Given the description of an element on the screen output the (x, y) to click on. 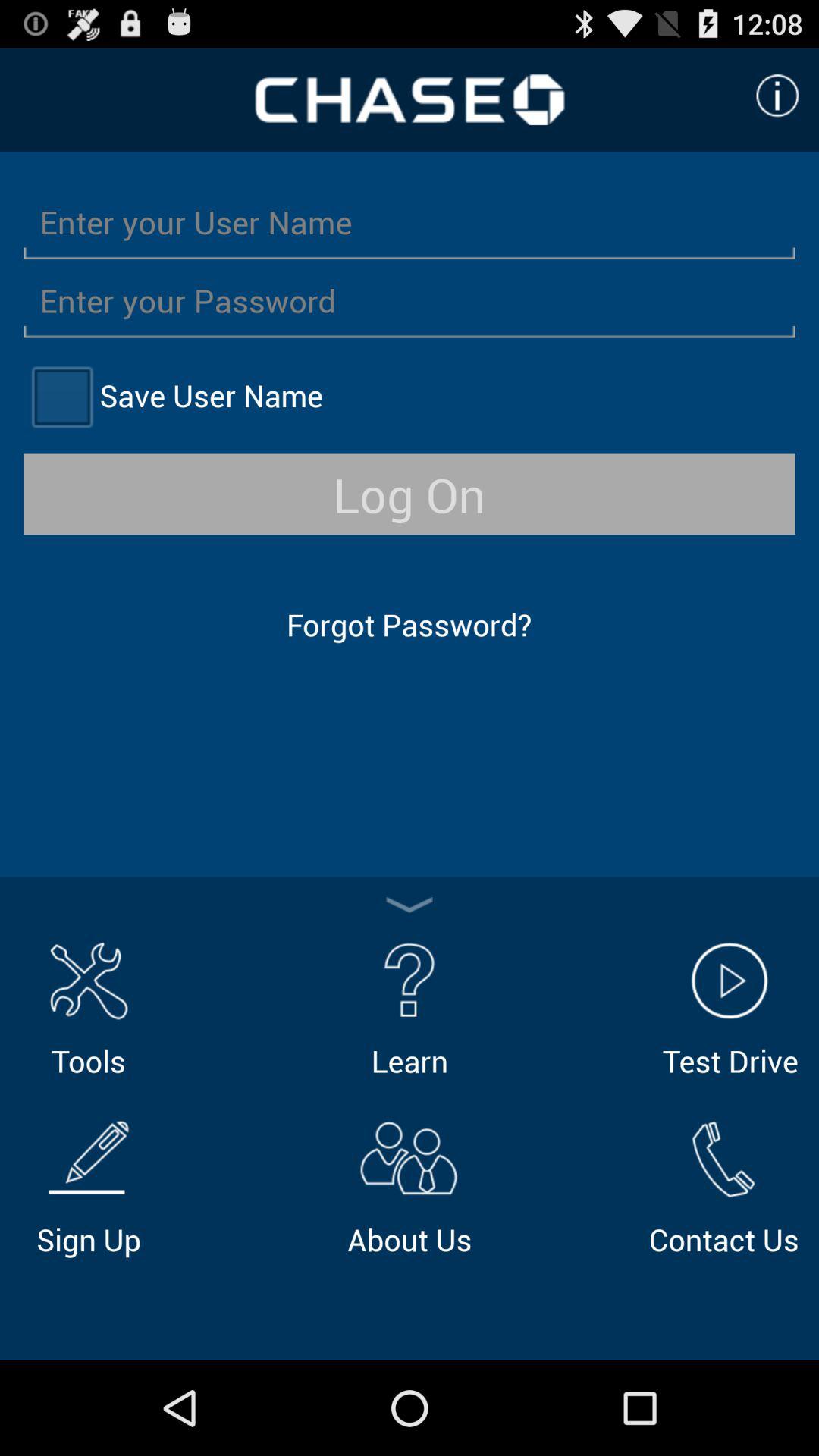
launch learn item (409, 1006)
